Given the description of an element on the screen output the (x, y) to click on. 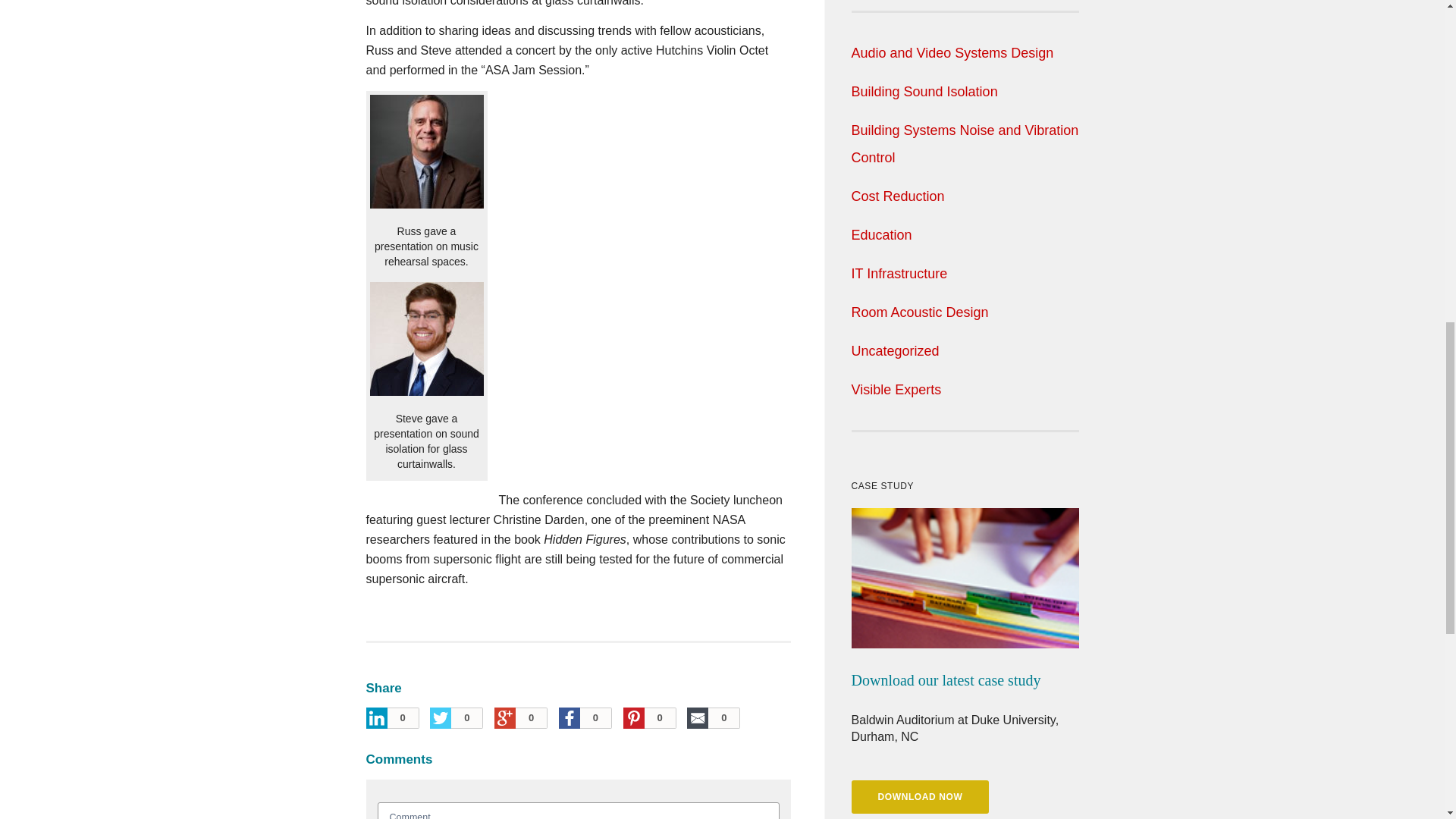
Education (880, 234)
Building Systems Noise and Vibration Control (964, 143)
Christine Darden (539, 519)
Building Sound Isolation (923, 91)
Cost Reduction (896, 196)
Audio and Video Systems Design (951, 52)
Hutchins Violin Octet (712, 50)
IT Infrastructure (898, 273)
